Given the description of an element on the screen output the (x, y) to click on. 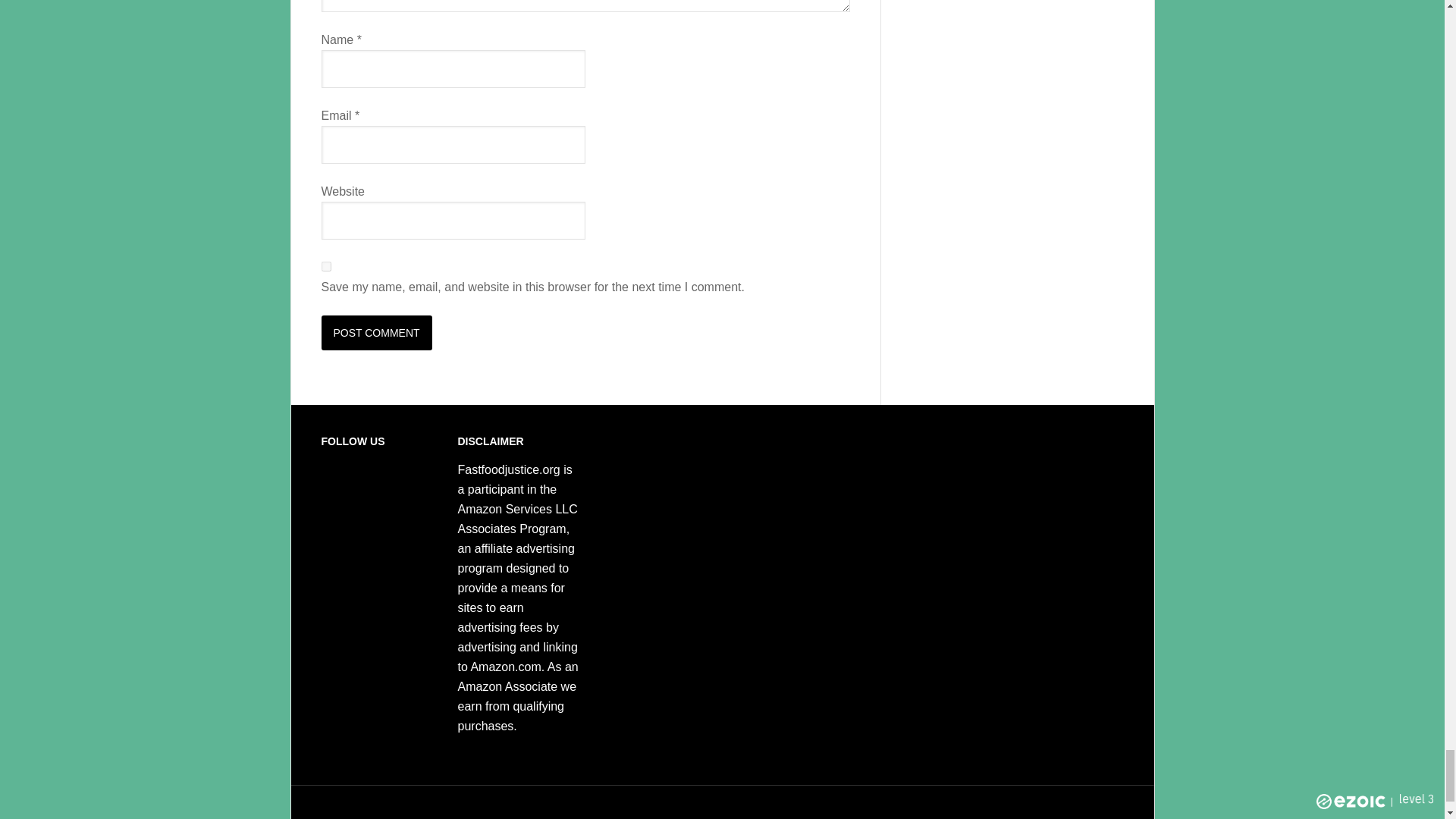
yes (326, 266)
Post Comment (376, 332)
